Given the description of an element on the screen output the (x, y) to click on. 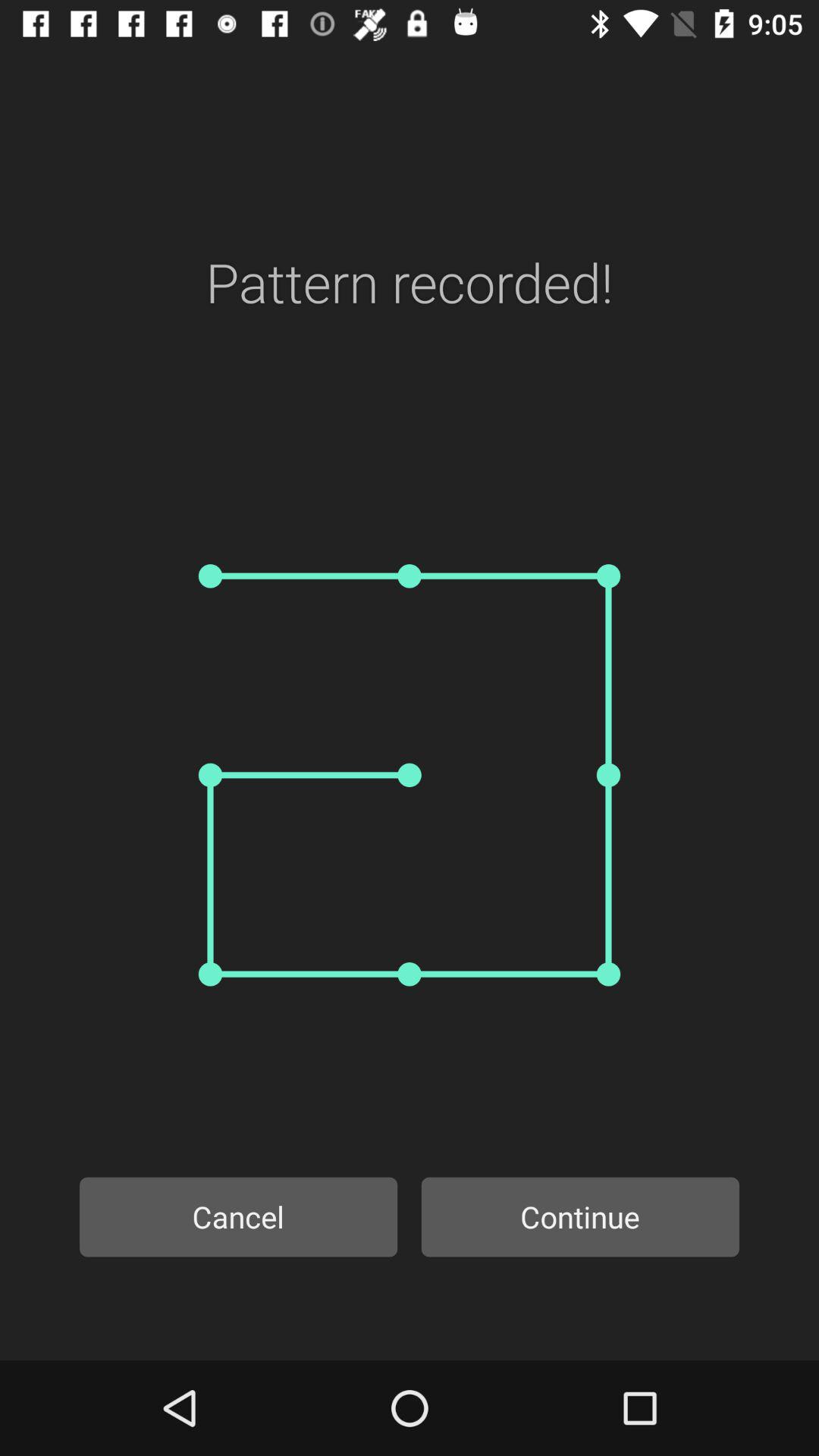
select continue (580, 1216)
